Given the description of an element on the screen output the (x, y) to click on. 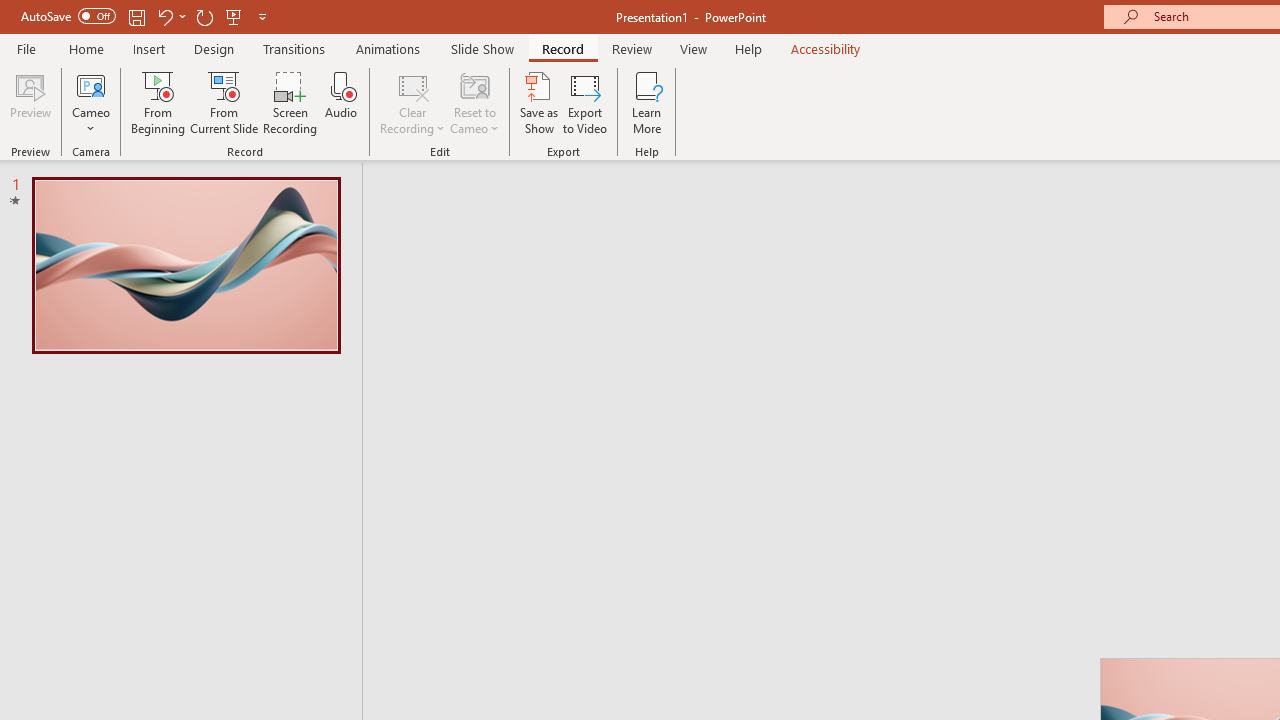
Screen Recording (290, 102)
Save as Show (539, 102)
From Beginning... (158, 102)
